Given the description of an element on the screen output the (x, y) to click on. 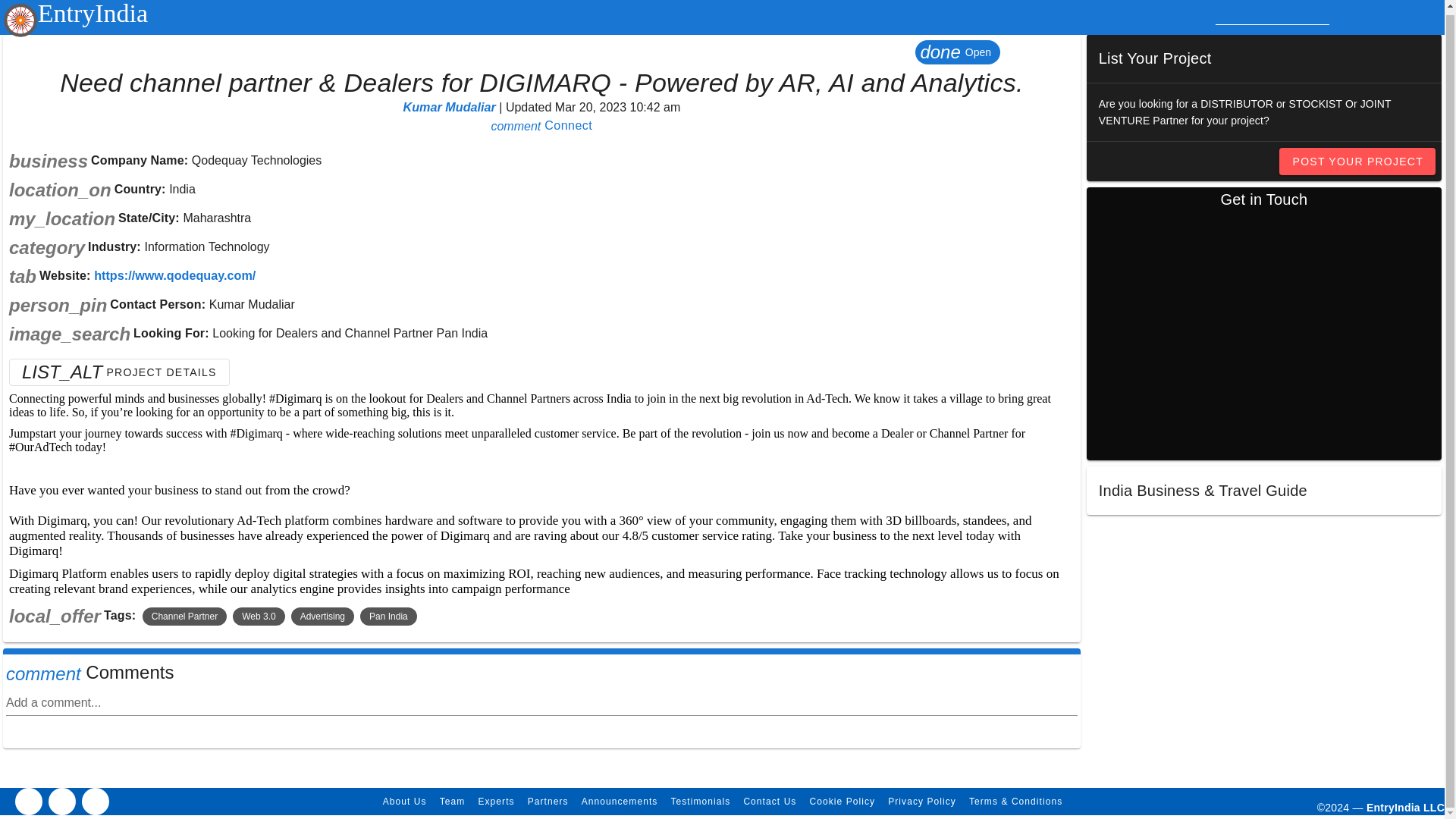
EntryIndia (75, 11)
Cookie Policy (841, 801)
EntryIndia Twitter (95, 800)
EntryIndia Linkedin (61, 800)
About Us (403, 801)
Pan India (387, 616)
Partners (541, 124)
Project Details (548, 801)
EntryIndia Facebook (119, 371)
